Given the description of an element on the screen output the (x, y) to click on. 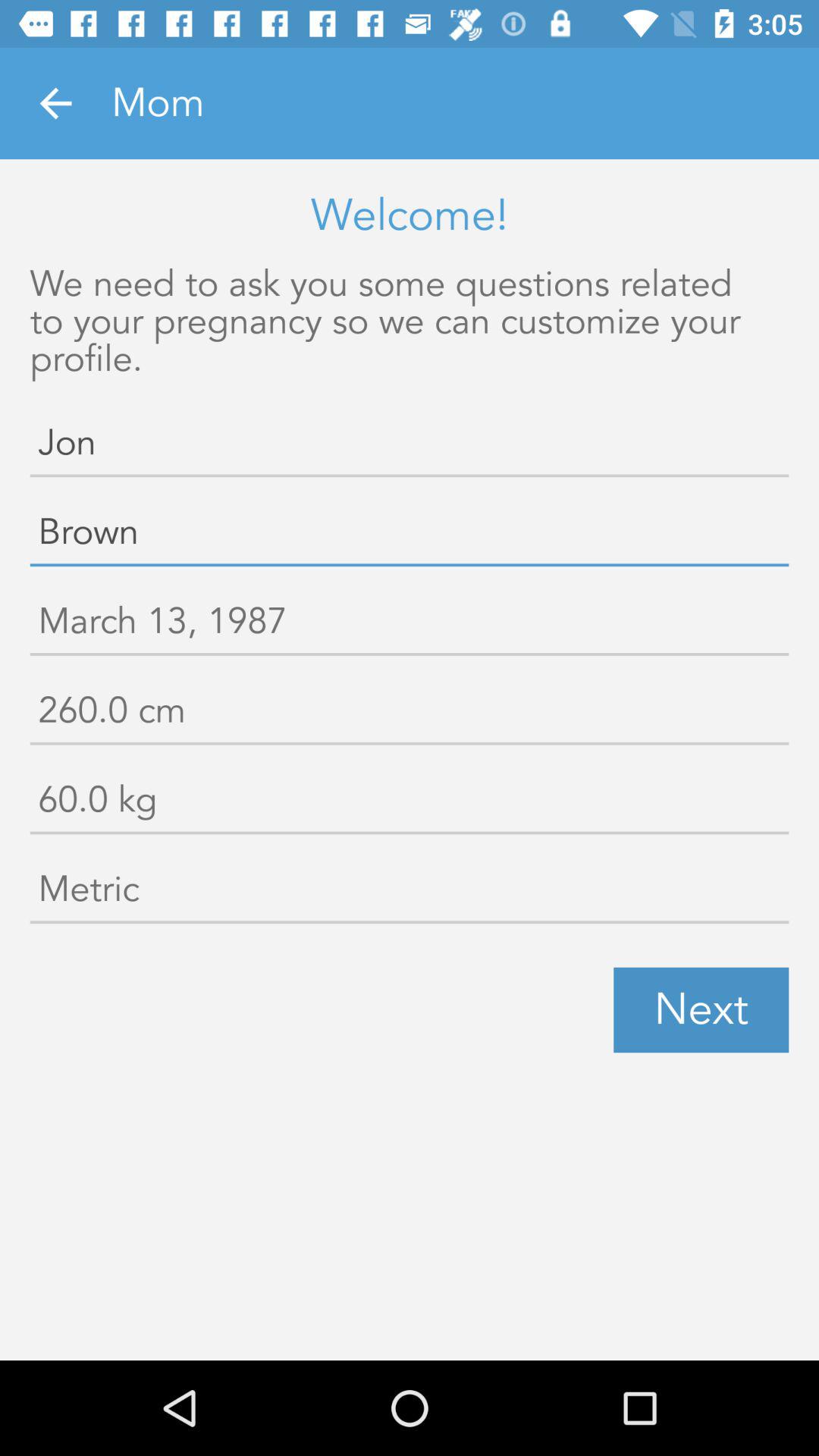
press icon below brown (409, 624)
